Given the description of an element on the screen output the (x, y) to click on. 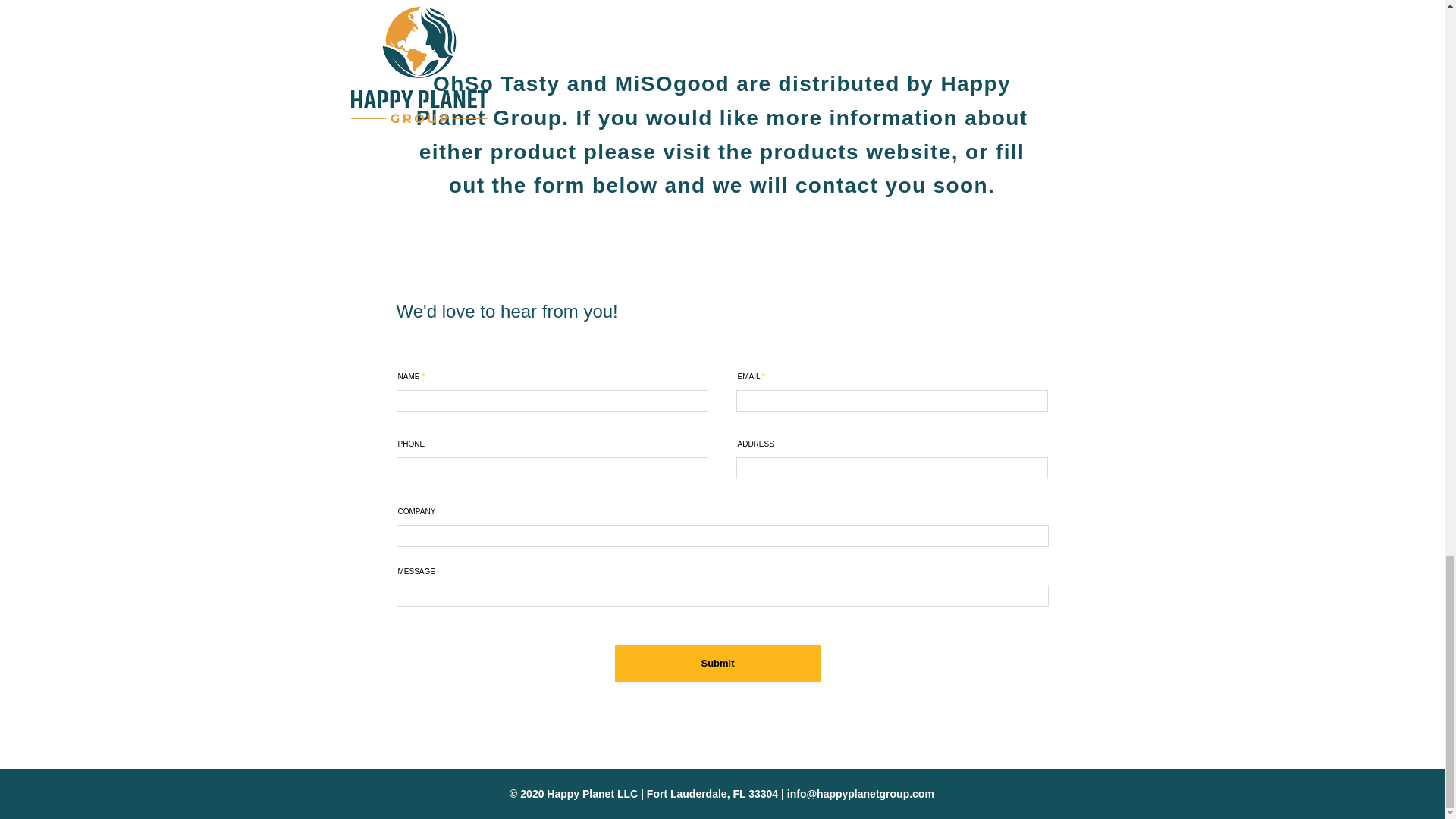
Submit (717, 663)
